Given the description of an element on the screen output the (x, y) to click on. 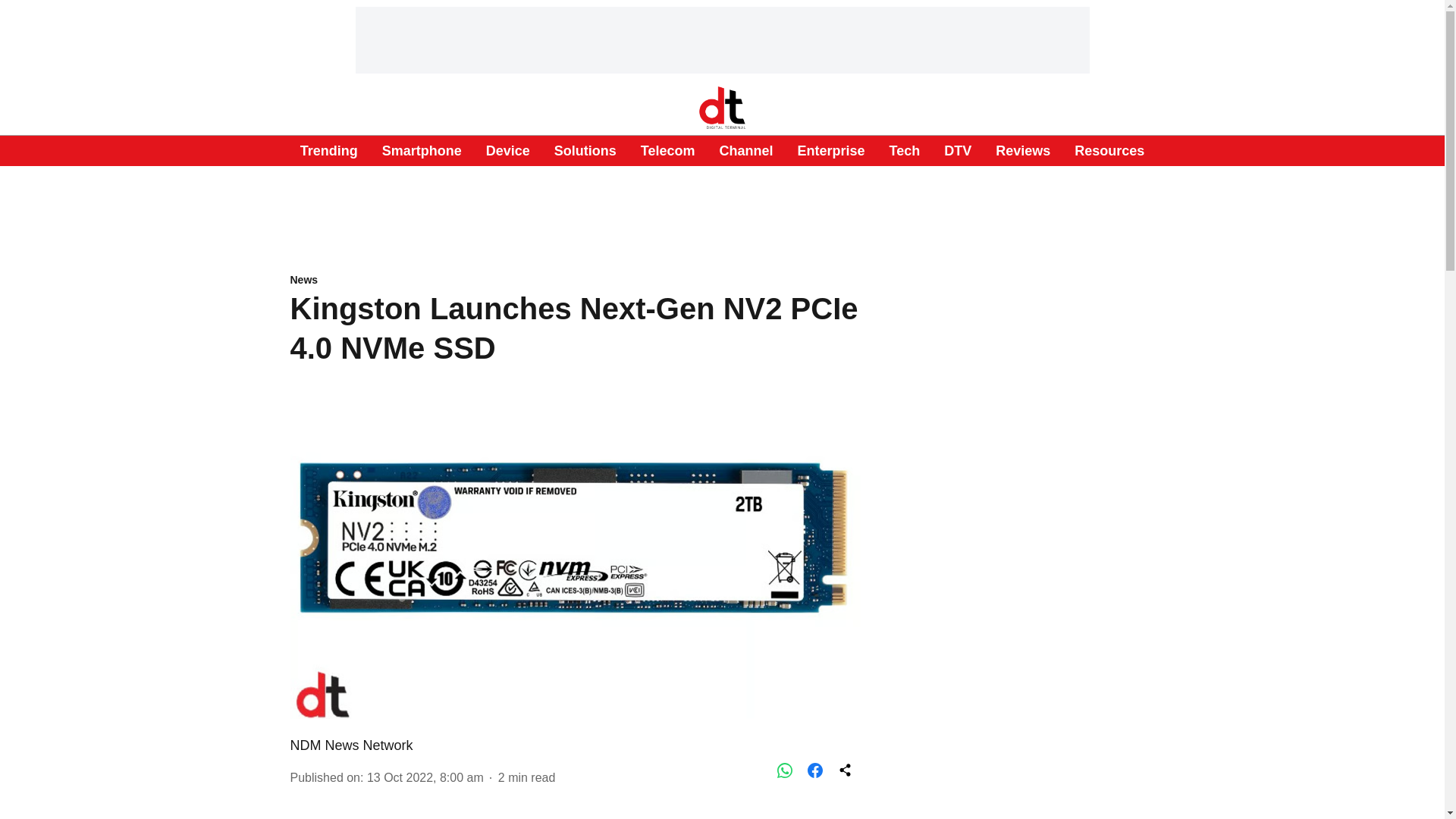
Smartphone (421, 150)
News (574, 280)
Solutions (584, 150)
3rd party ad content (722, 39)
Trending (328, 150)
3rd party ad content (722, 205)
Enterprise (830, 150)
3rd party ad content (1015, 748)
Device (507, 150)
